Given the description of an element on the screen output the (x, y) to click on. 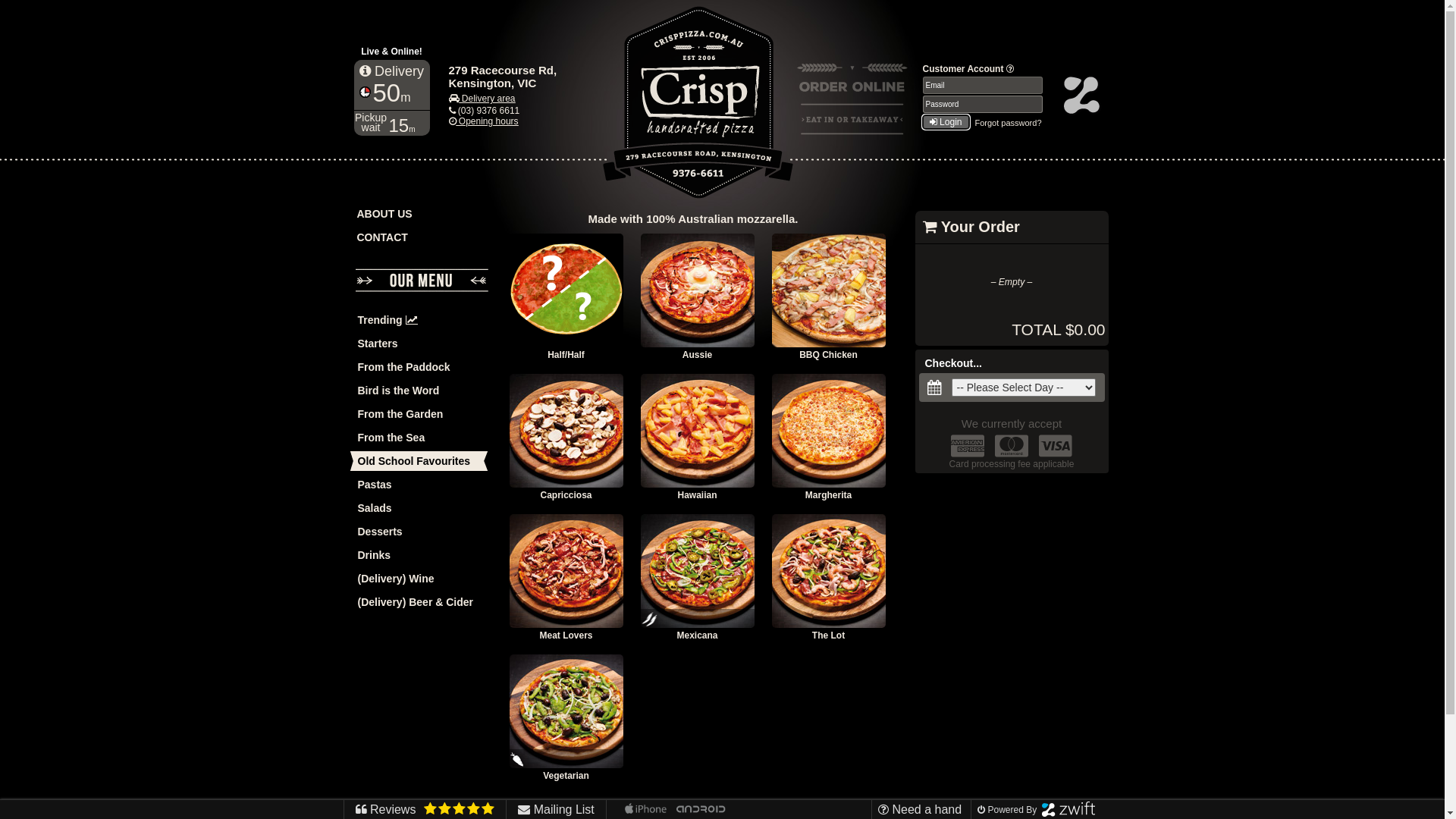
From the Sea Element type: text (419, 439)
Starters Element type: text (419, 345)
Login Element type: text (945, 121)
Desserts Element type: text (419, 533)
(Delivery) Beer & Cider Element type: text (419, 603)
Visa Element type: hover (1055, 445)
Powered By Element type: text (1034, 809)
From the Garden Element type: text (419, 415)
From the Paddock Element type: text (419, 368)
(Delivery) Wine Element type: text (419, 580)
American Express Element type: hover (967, 445)
Mastercard Element type: hover (1011, 445)
CONTACT Element type: text (420, 239)
Pastas Element type: text (419, 486)
Opening hours Element type: text (483, 121)
Bird is the Word Element type: text (419, 392)
Drinks Element type: text (419, 556)
Trending Element type: text (419, 321)
Delivery area Element type: text (481, 98)
Old School Favourites Element type: text (419, 462)
Salads Element type: text (419, 509)
ABOUT US Element type: text (420, 215)
